Given the description of an element on the screen output the (x, y) to click on. 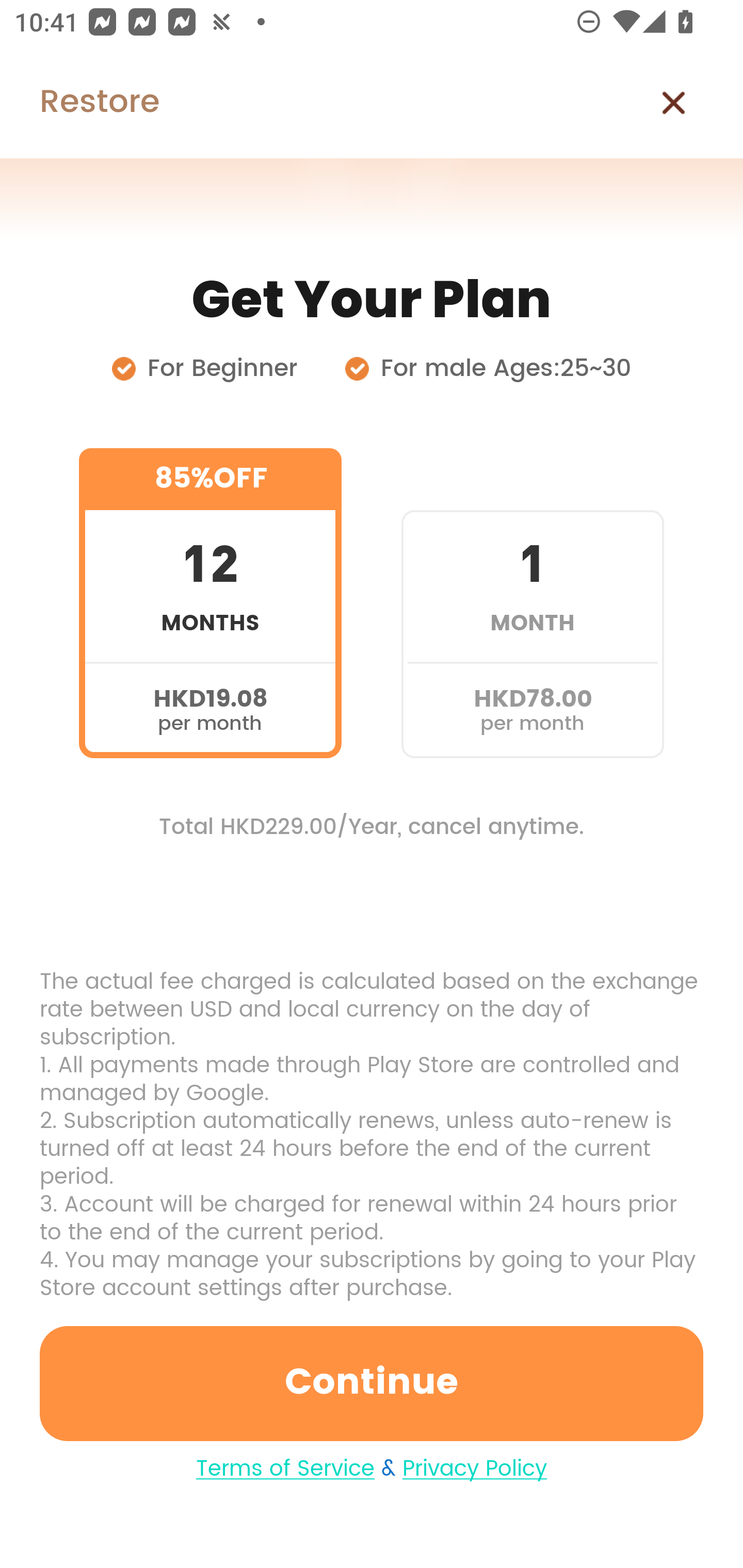
Restore (79, 102)
85%OFF 12 MONTHS per month HKD19.08 (209, 603)
1 MONTH per month HKD78.00 (532, 603)
Continue (371, 1383)
